Given the description of an element on the screen output the (x, y) to click on. 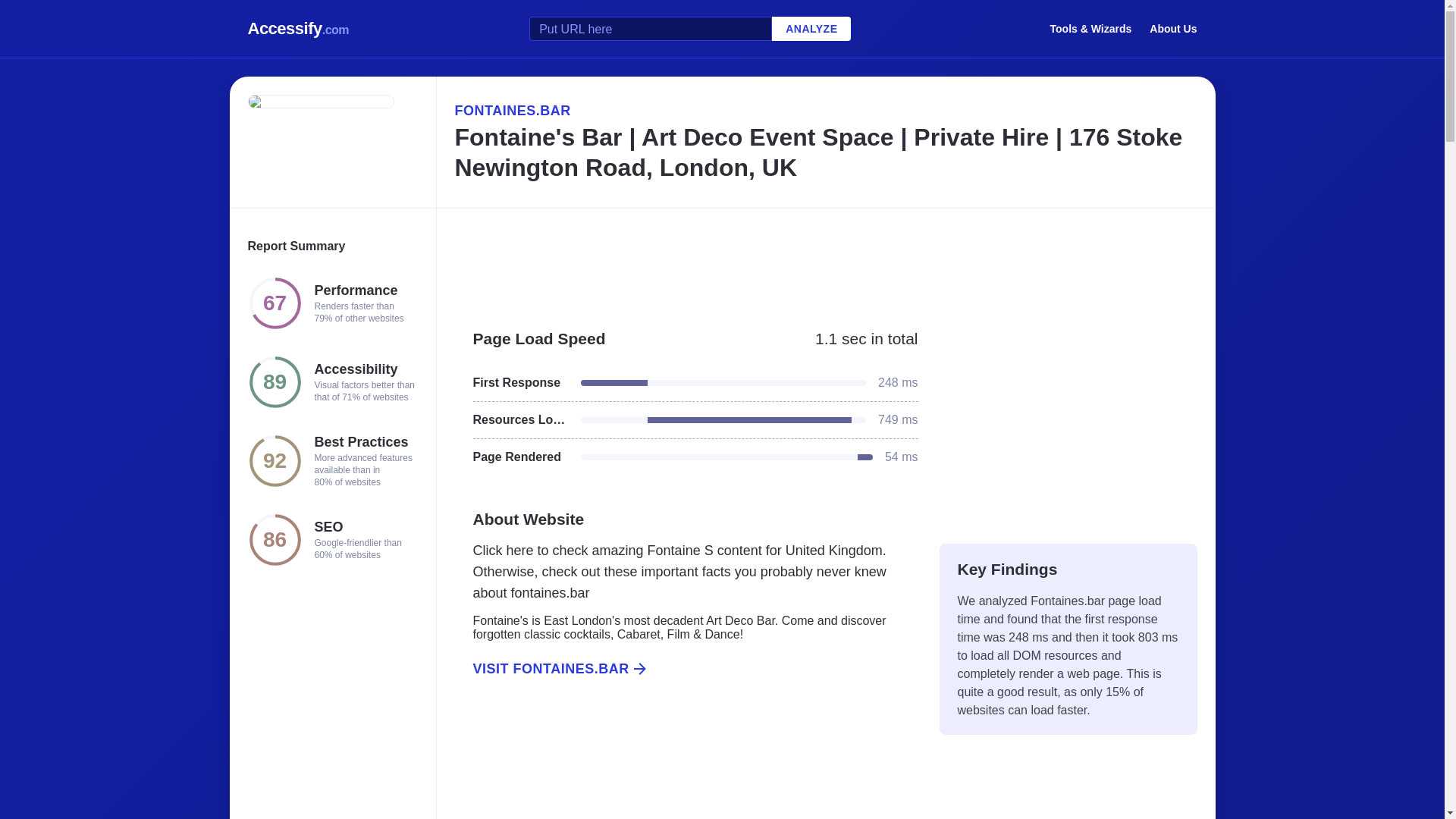
About Us (1173, 28)
FONTAINES.BAR (825, 110)
VISIT FONTAINES.BAR (686, 669)
ANALYZE (810, 28)
Accessify.com (298, 28)
